Given the description of an element on the screen output the (x, y) to click on. 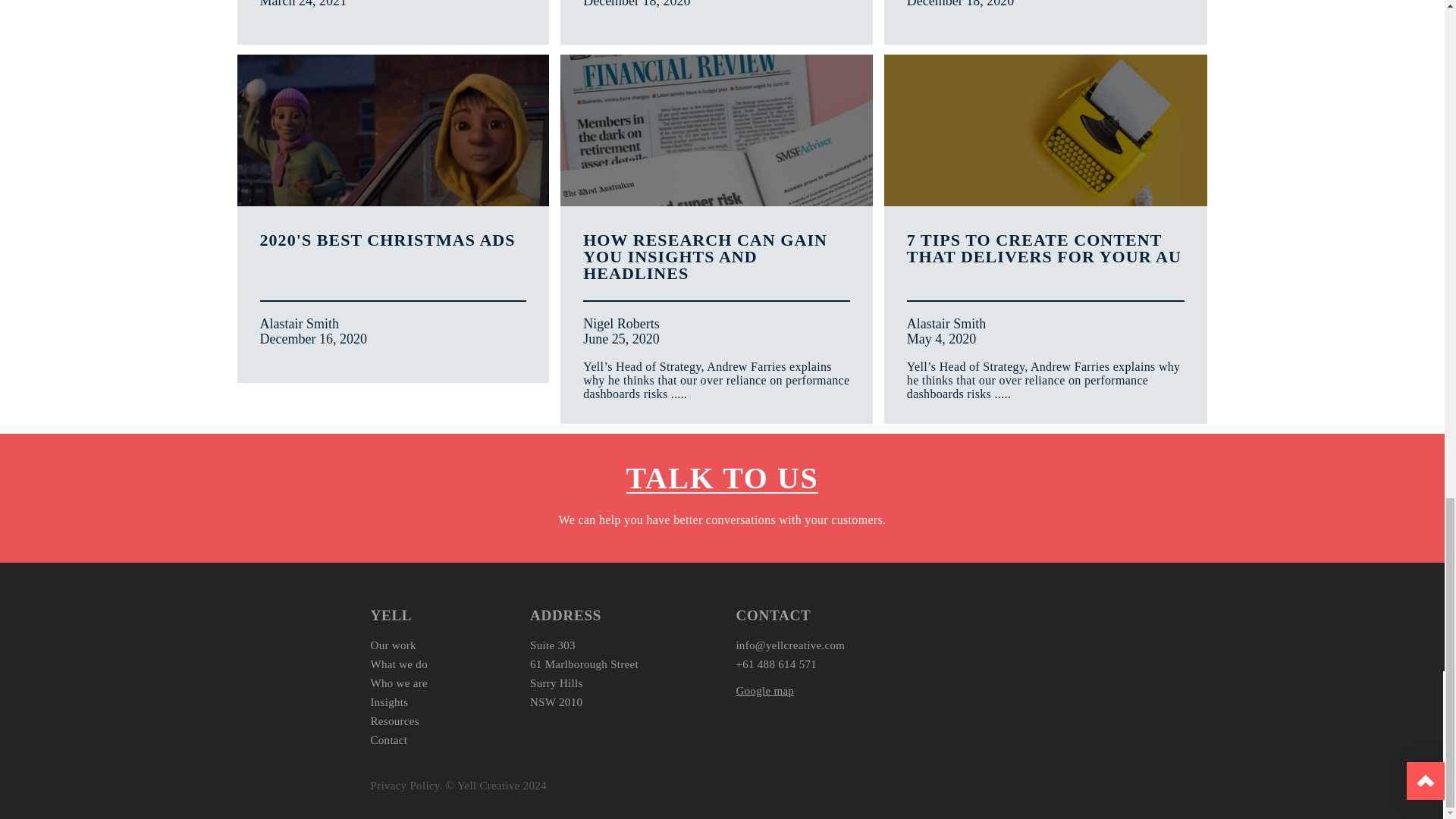
2020'S BEST CHRISTMAS ADS (392, 238)
